Given the description of an element on the screen output the (x, y) to click on. 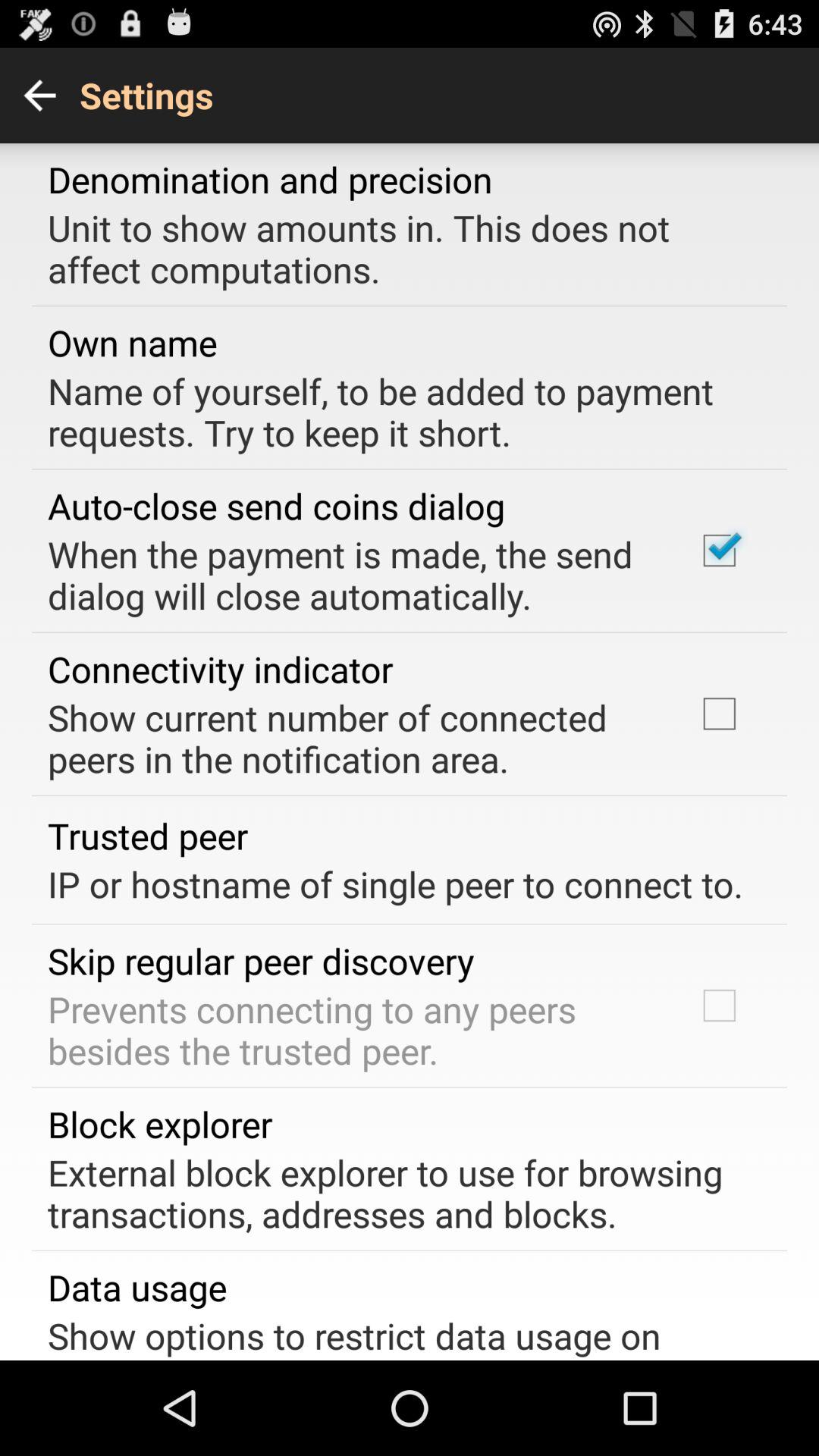
flip to the show current number app (351, 738)
